Given the description of an element on the screen output the (x, y) to click on. 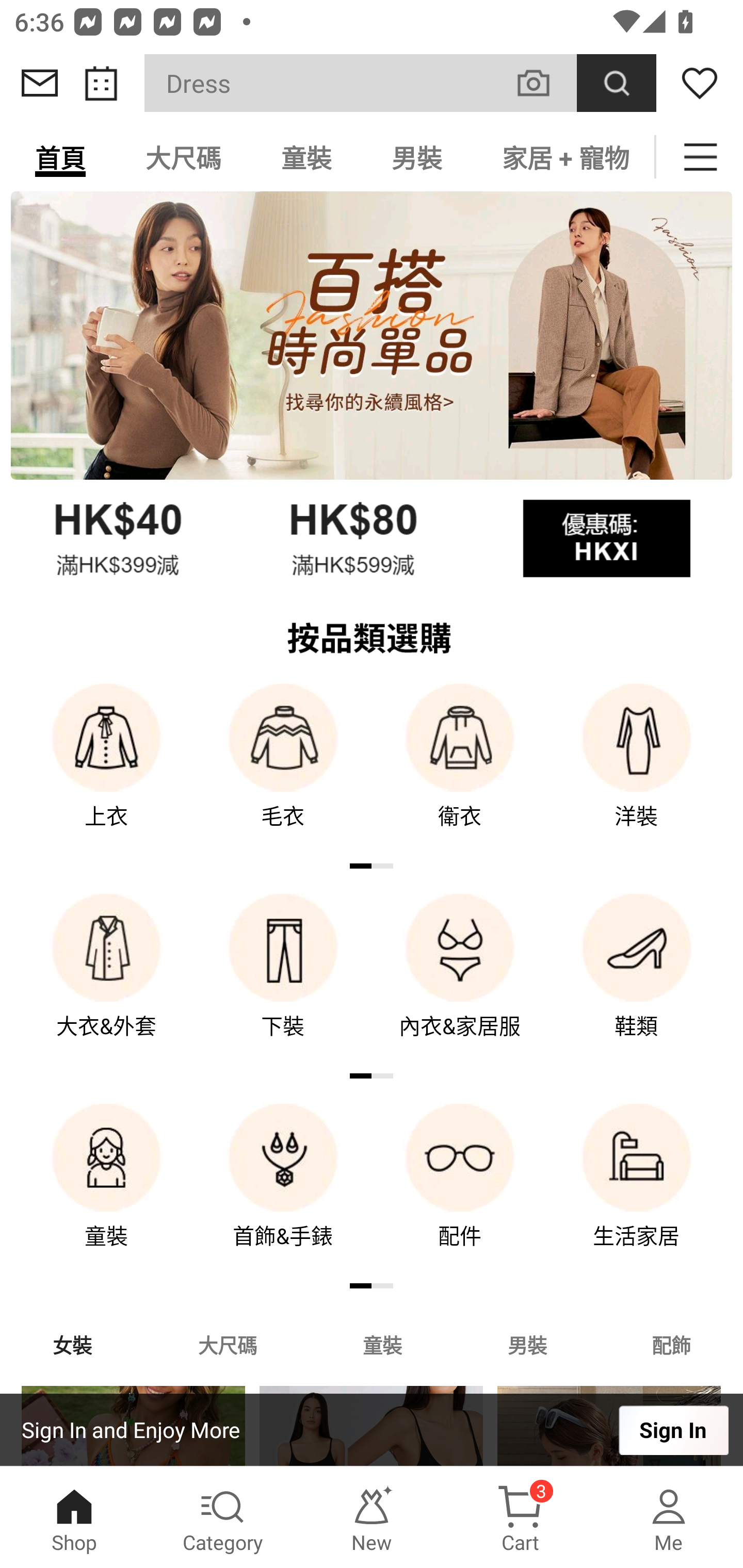
Wishlist (699, 82)
VISUAL SEARCH (543, 82)
首頁 (60, 156)
大尺碼 (183, 156)
童裝 (306, 156)
男裝 (416, 156)
家居 + 寵物 (563, 156)
上衣 (105, 769)
毛衣 (282, 769)
衛衣 (459, 769)
洋裝 (636, 769)
大衣&外套 (105, 979)
下裝 (282, 979)
內衣&家居服 (459, 979)
鞋類 (636, 979)
童裝 (105, 1189)
首飾&手錶 (282, 1189)
配件 (459, 1189)
生活家居 (636, 1189)
女裝 (72, 1344)
大尺碼 (226, 1344)
童裝 (381, 1344)
男裝 (527, 1344)
配飾 (671, 1344)
Sign In and Enjoy More Sign In (371, 1429)
Category (222, 1517)
New (371, 1517)
Cart 3 Cart (519, 1517)
Me (668, 1517)
